Given the description of an element on the screen output the (x, y) to click on. 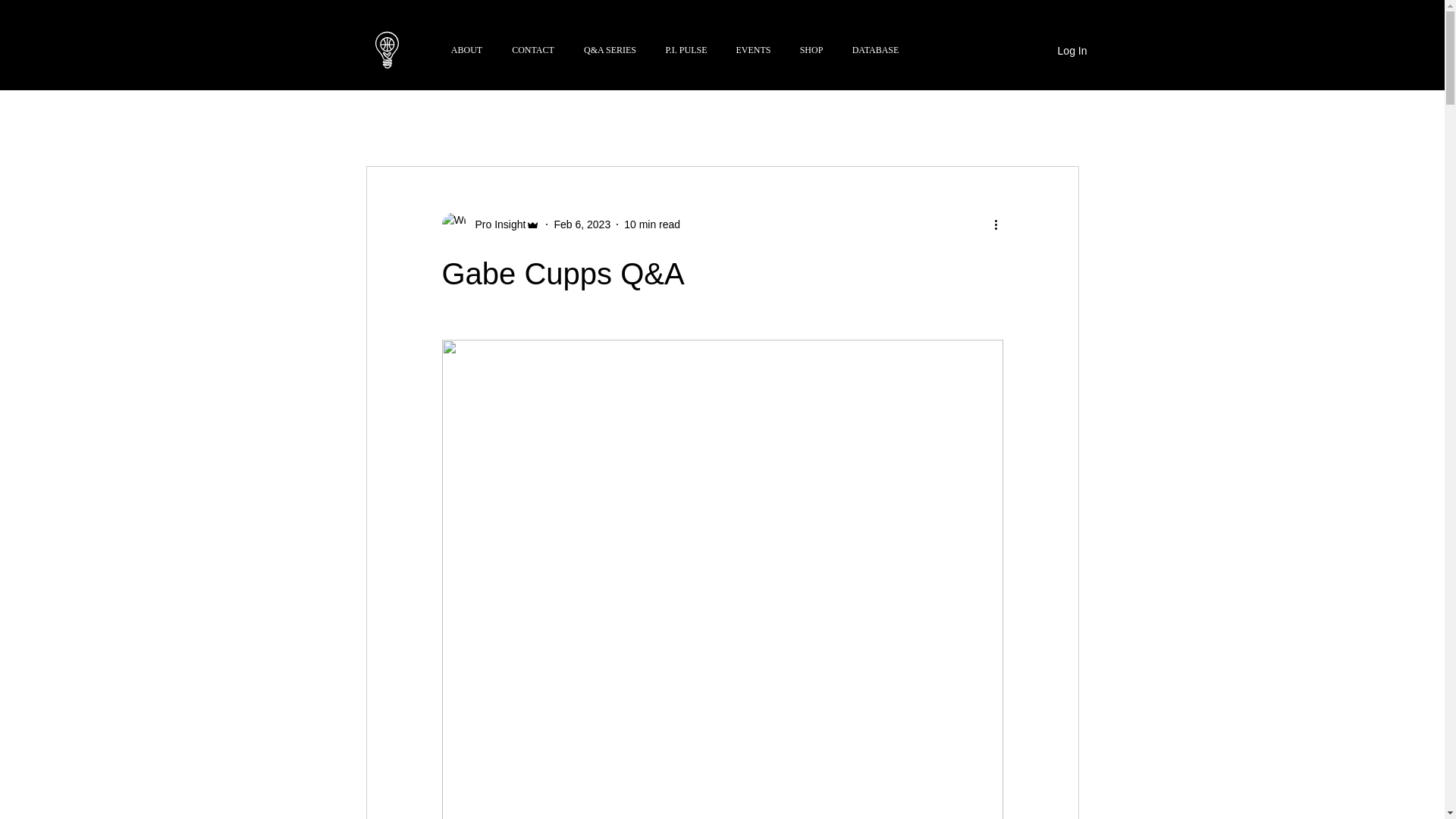
Log In (1071, 51)
Pro Insight (495, 224)
SHOP (812, 49)
DATABASE (874, 49)
Pro Insight (490, 224)
ABOUT (466, 49)
10 min read (651, 224)
Feb 6, 2023 (581, 224)
P.I. PULSE (685, 49)
CONTACT (533, 49)
EVENTS (754, 49)
